Given the description of an element on the screen output the (x, y) to click on. 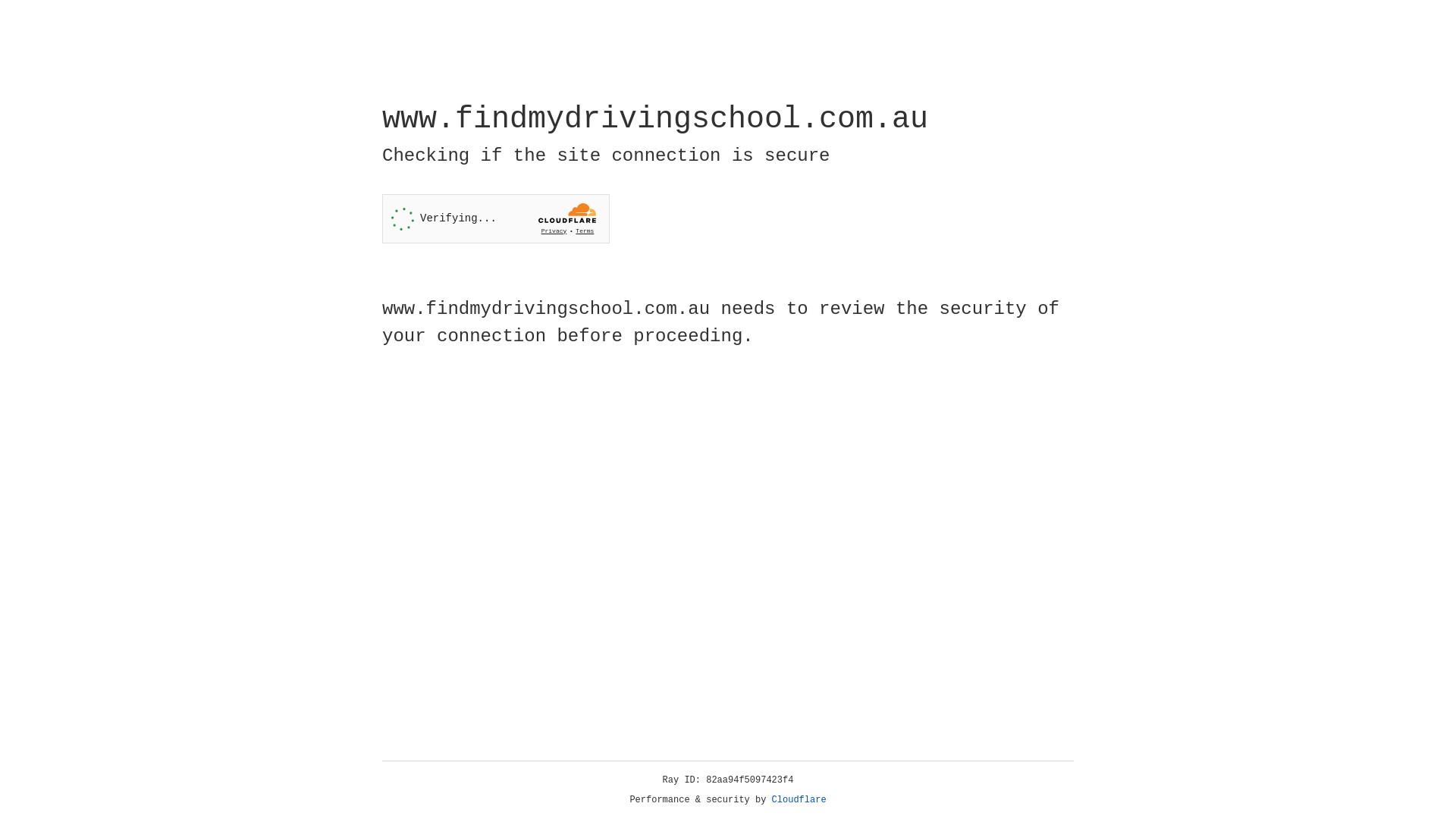
Widget containing a Cloudflare security challenge Element type: hover (495, 218)
Cloudflare Element type: text (798, 799)
